Given the description of an element on the screen output the (x, y) to click on. 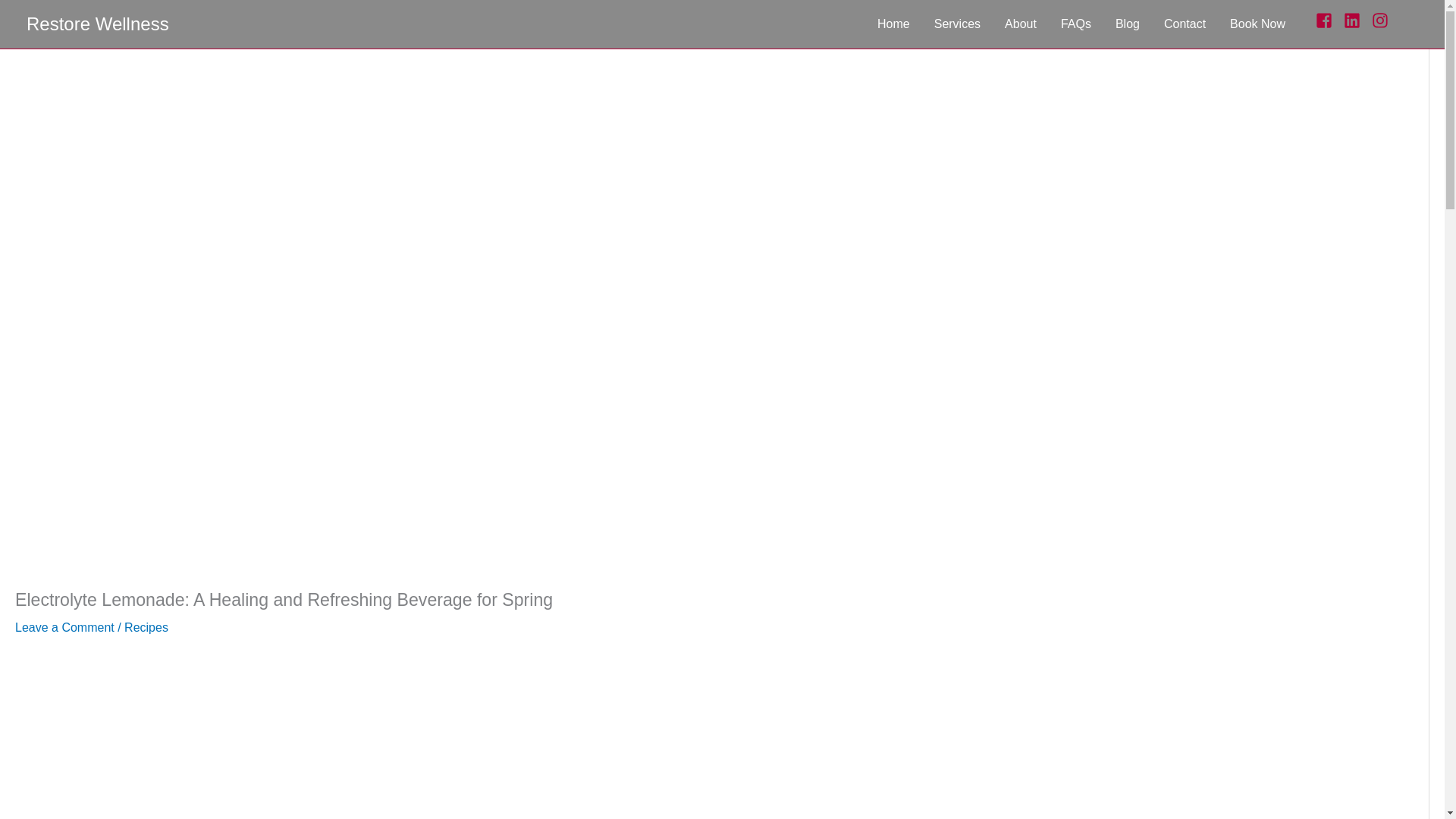
Home (892, 24)
Book Now (1257, 24)
Restore Wellness (97, 23)
Recipes (145, 626)
About (1020, 24)
Services (956, 24)
FAQs (1075, 24)
Blog (1127, 24)
Leave a Comment (64, 626)
Contact (1184, 24)
